Given the description of an element on the screen output the (x, y) to click on. 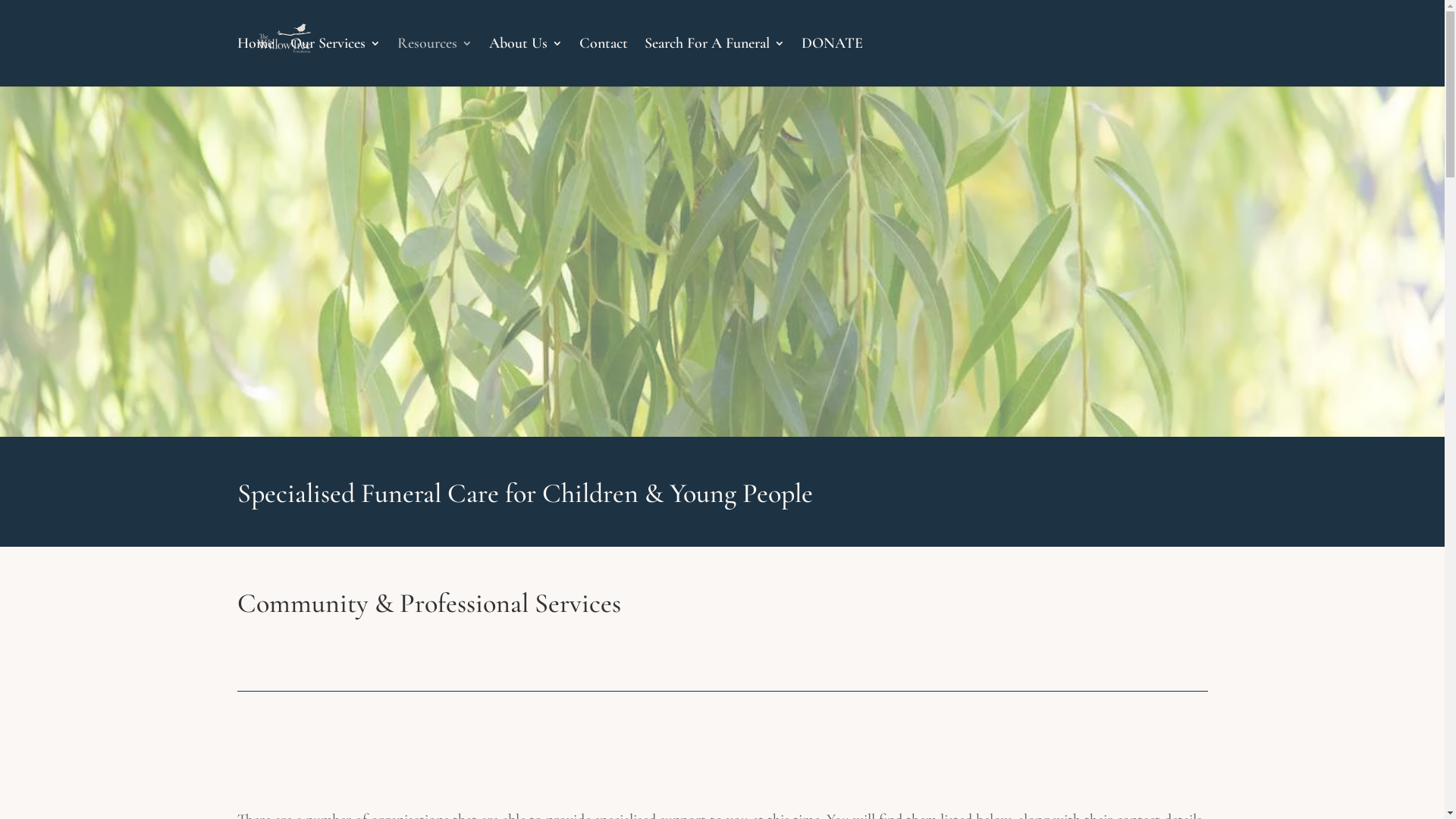
WTr Logo Landscape Blue Element type: hover (722, 286)
Contact Element type: text (603, 61)
Home Element type: text (254, 61)
DONATE Element type: text (831, 61)
Resources Element type: text (434, 61)
About Us Element type: text (524, 61)
Search For A Funeral Element type: text (714, 61)
Our Services Element type: text (334, 61)
